Given the description of an element on the screen output the (x, y) to click on. 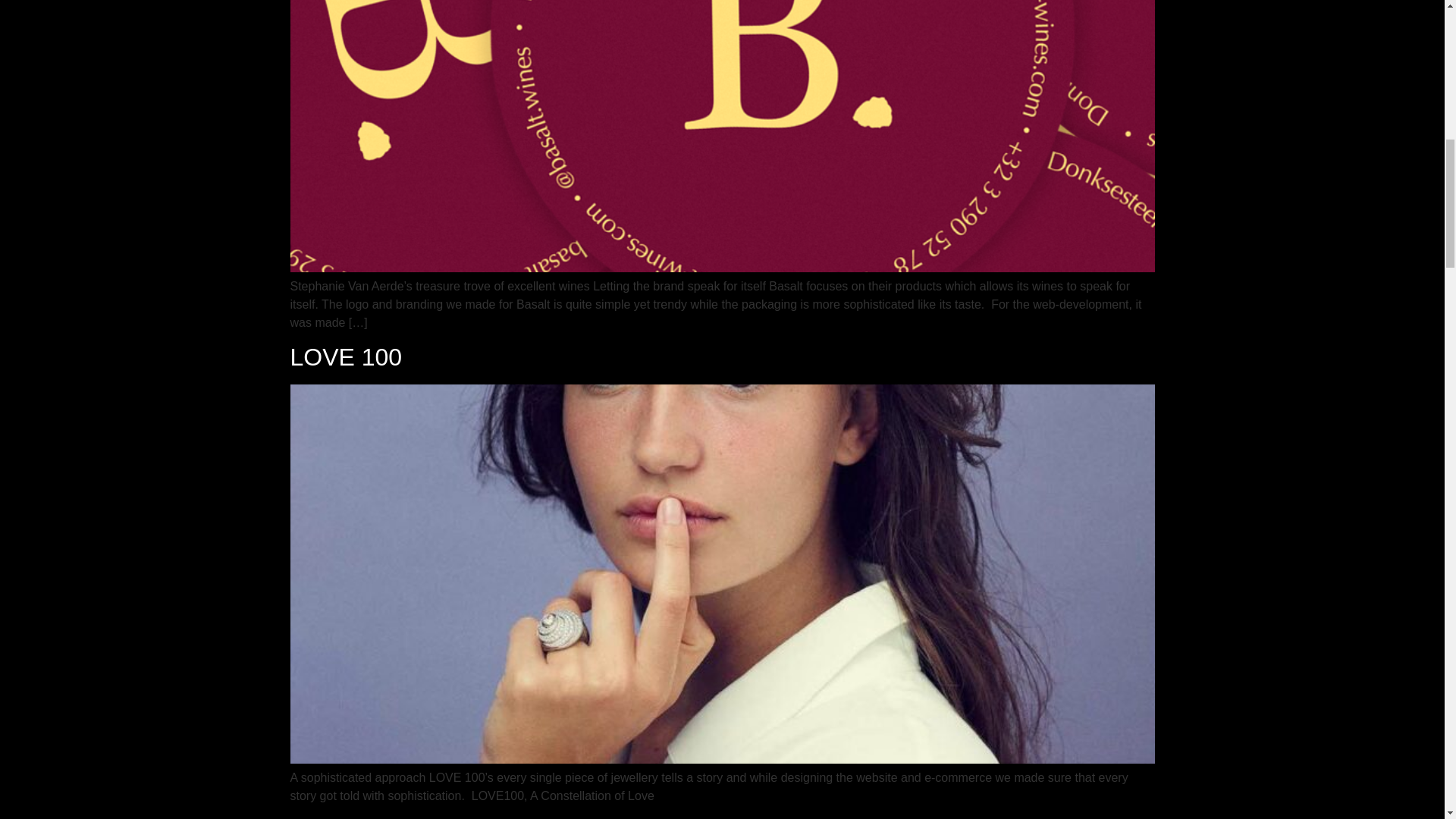
LOVE 100 (345, 357)
VILLA MARIA (363, 817)
